Given the description of an element on the screen output the (x, y) to click on. 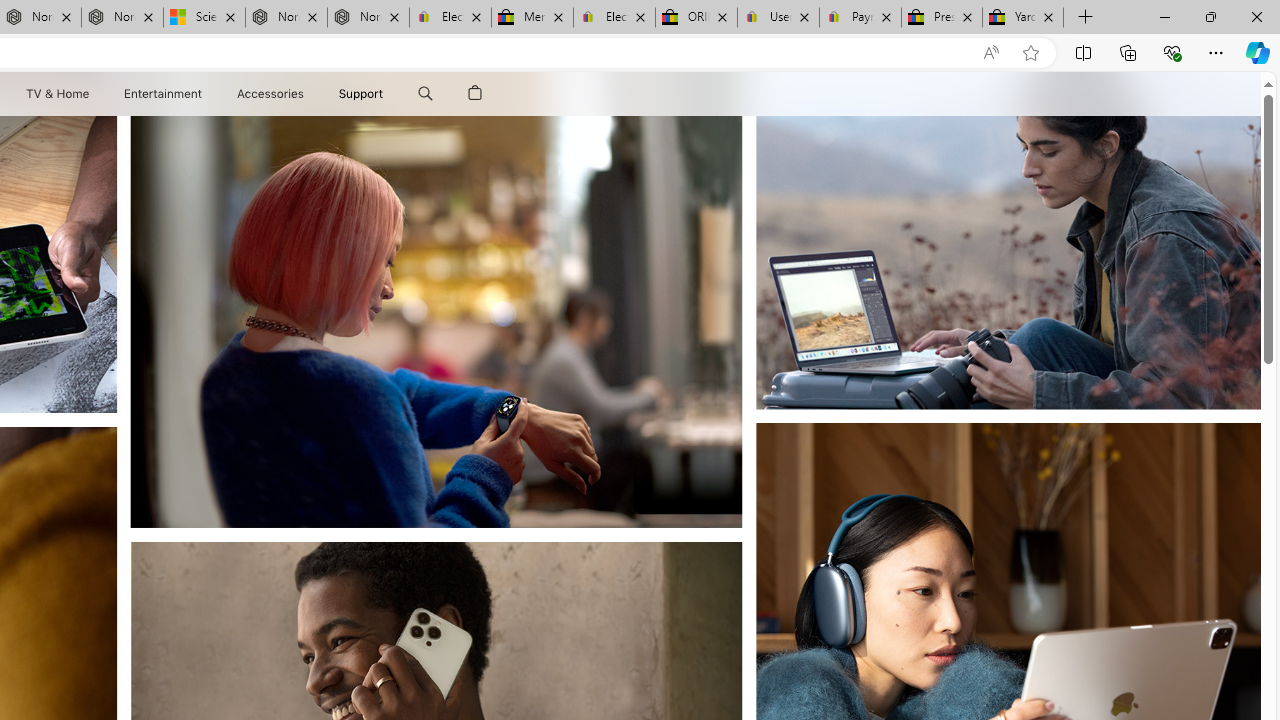
Accessories (269, 93)
TV & Home (56, 93)
AutomationID: globalnav-bag (475, 93)
Support menu (387, 93)
